Given the description of an element on the screen output the (x, y) to click on. 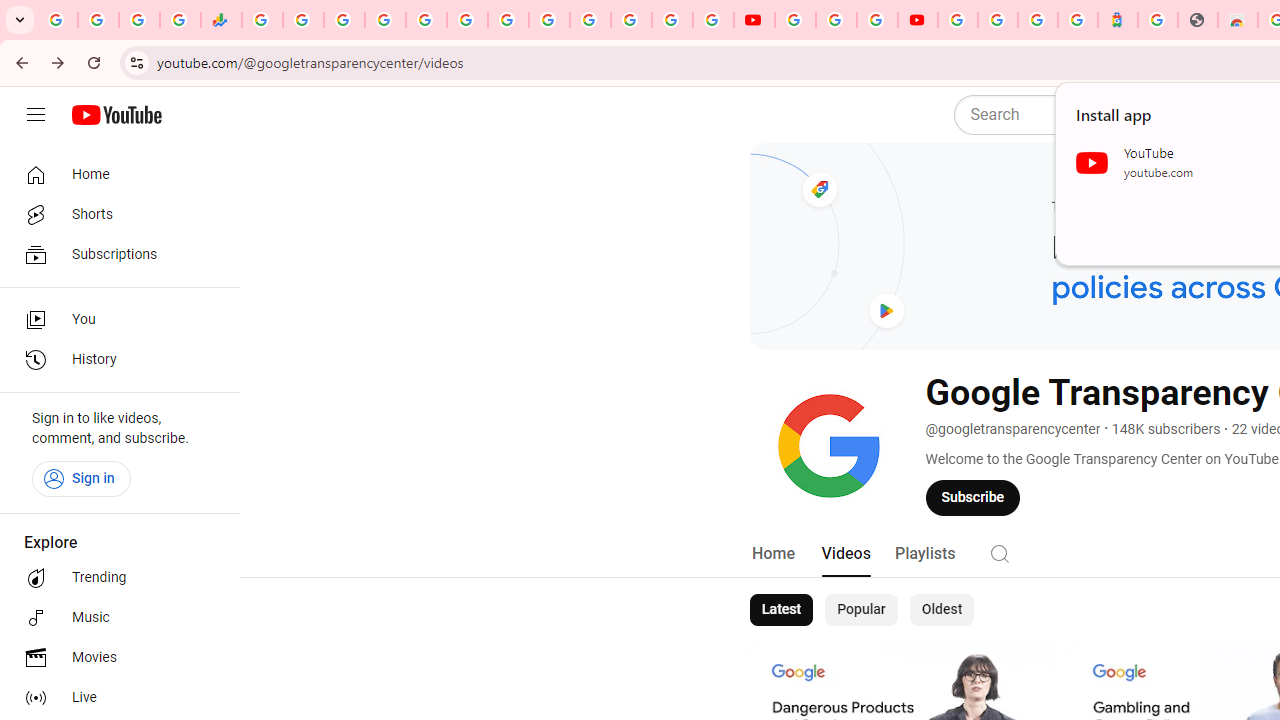
Android TV Policies and Guidelines - Transparency Center (507, 20)
YouTube (795, 20)
Subscribe (973, 497)
Live (113, 697)
Playlists (924, 553)
Popular (861, 609)
Sign in - Google Accounts (997, 20)
YouTube (753, 20)
Guide (35, 115)
